Given the description of an element on the screen output the (x, y) to click on. 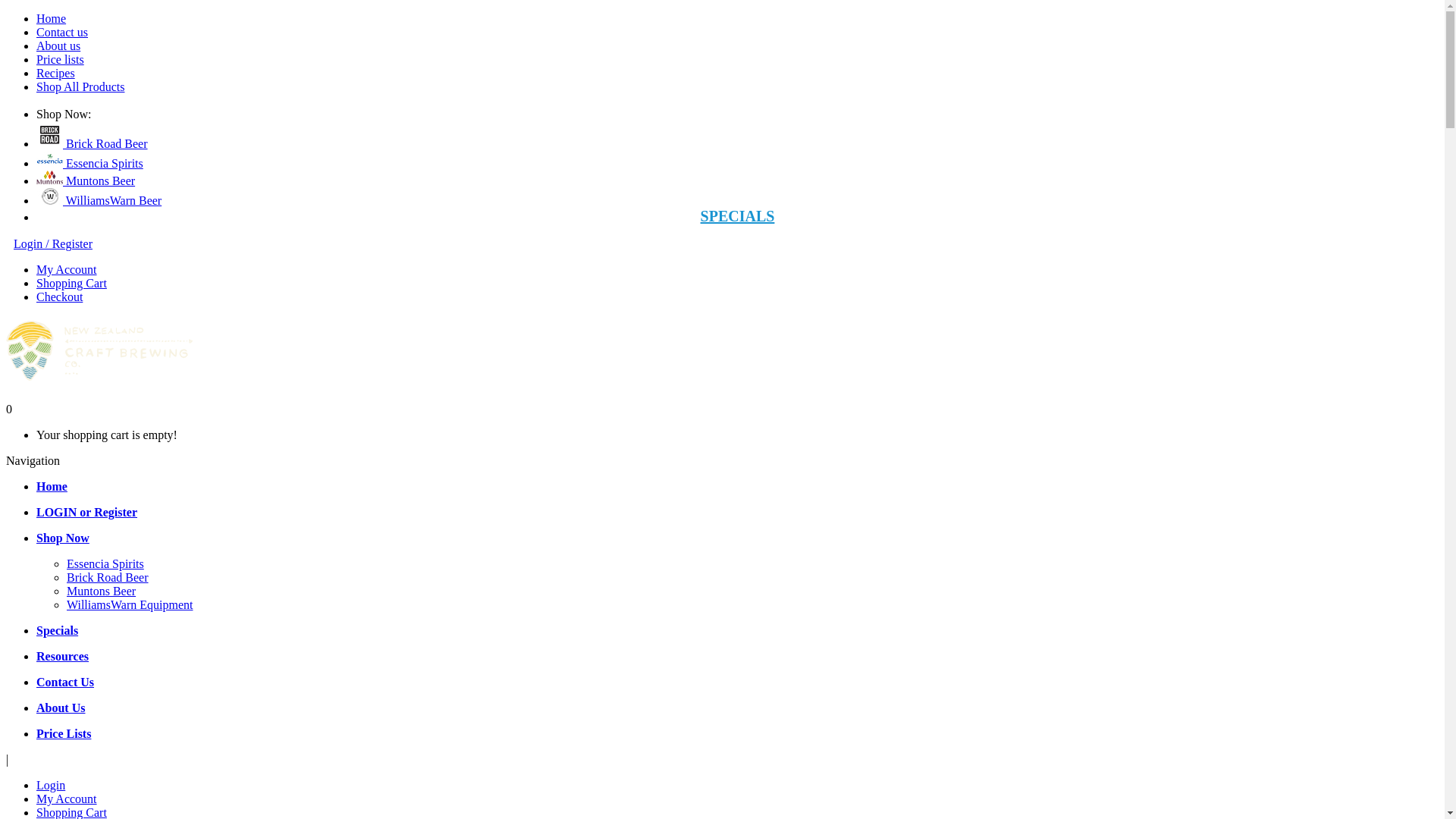
Brick Road Beer Element type: text (107, 577)
LOGIN or Register Element type: text (86, 511)
Home Element type: text (51, 486)
Login Element type: text (50, 784)
Brick Road Beer Element type: text (91, 143)
Home Element type: text (50, 18)
Shop All Products Element type: text (80, 86)
SPECIALS Element type: text (737, 215)
Contact Us Element type: text (65, 681)
Contact us Element type: text (61, 31)
Specials Element type: text (57, 630)
Checkout Element type: text (59, 296)
Price lists Element type: text (60, 59)
My Account Element type: text (66, 269)
Shop Now Element type: text (62, 537)
Shopping Cart Element type: text (71, 282)
WilliamsWarn Beer Element type: text (98, 200)
NZ Craft Brewing Co (Aus) Element type: hover (99, 350)
About Us Element type: text (60, 707)
WilliamsWarn Equipment Element type: text (129, 604)
Price Lists Element type: text (63, 733)
Muntons Beer Element type: text (85, 180)
Muntons Beer Element type: text (100, 590)
My Account Element type: text (66, 798)
About us Element type: text (58, 45)
Resources Element type: text (62, 655)
Essencia Spirits Element type: text (89, 162)
Essencia Spirits Element type: text (105, 563)
Login / Register Element type: text (52, 243)
Recipes Element type: text (55, 72)
